Given the description of an element on the screen output the (x, y) to click on. 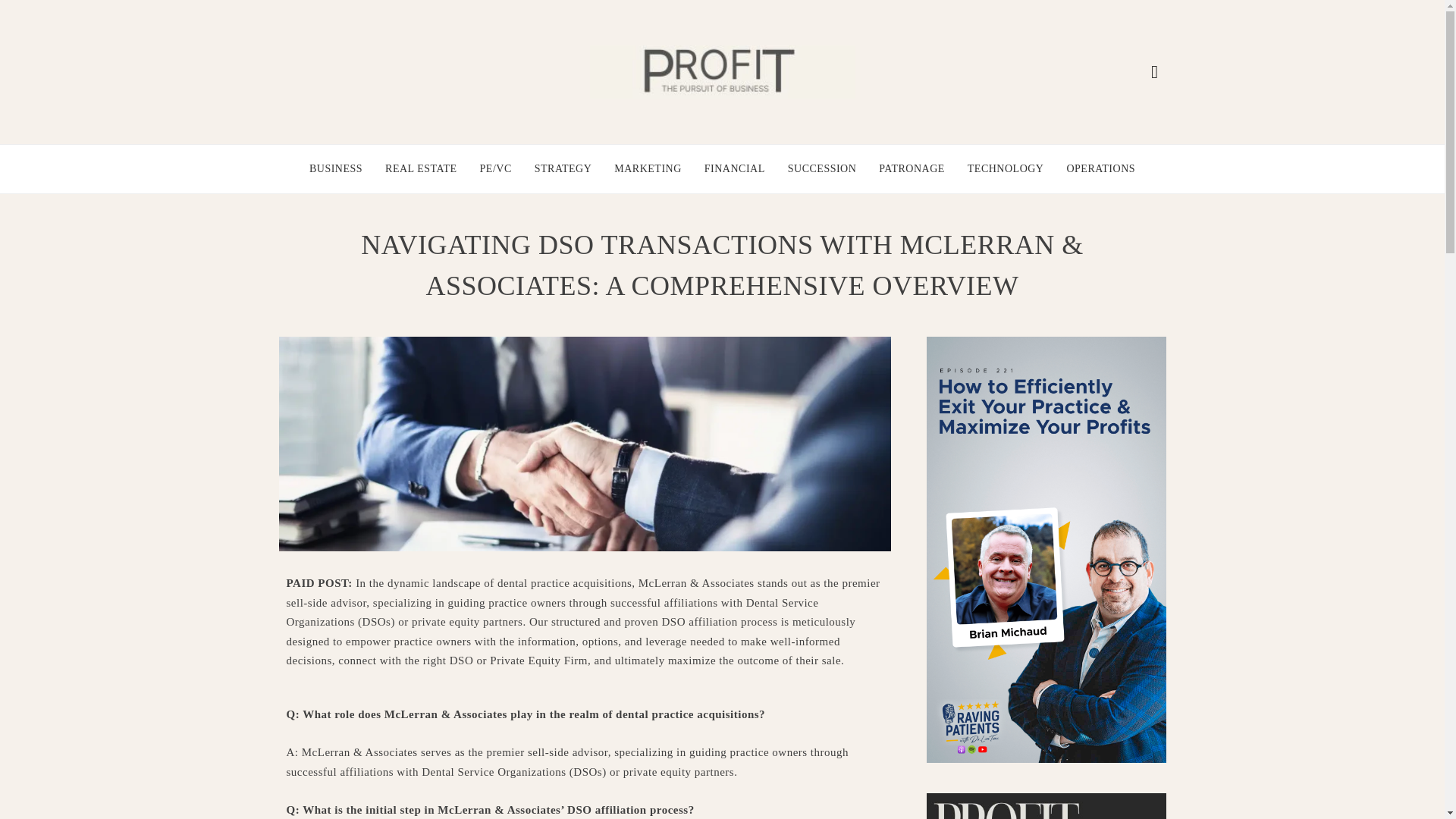
MARKETING (647, 168)
FINANCIAL (734, 168)
SUCCESSION (822, 168)
BUSINESS (335, 168)
PATRONAGE (911, 168)
REAL ESTATE (421, 168)
TECHNOLOGY (1005, 168)
STRATEGY (563, 168)
OPERATIONS (1100, 168)
